Given the description of an element on the screen output the (x, y) to click on. 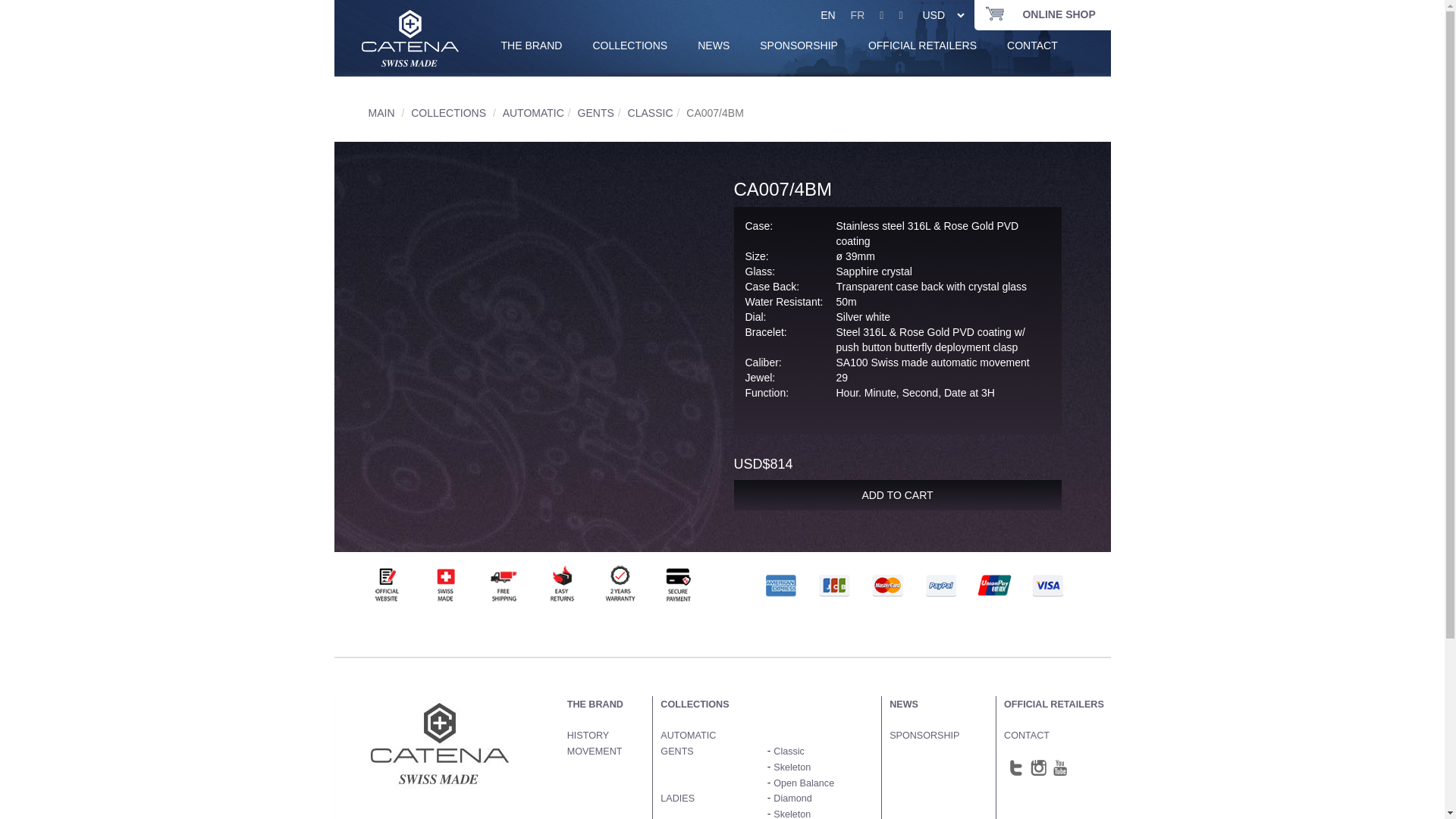
SPONSORSHIP Element type: text (924, 735)
HISTORY Element type: text (588, 735)
Skeleton Element type: text (791, 767)
NEWS Element type: text (903, 704)
COLLECTIONS Element type: text (694, 704)
NEWS Element type: text (713, 45)
LADIES Element type: text (677, 798)
Open Balance Element type: text (803, 783)
CONTACT Element type: text (1026, 735)
Diamond Element type: text (792, 798)
ONLINE SHOP Element type: text (1052, 14)
OFFICIAL RETAILERS Element type: text (922, 45)
CLASSIC Element type: text (650, 112)
AUTOMATIC Element type: text (687, 735)
CONTACT Element type: text (1032, 45)
MAIN Element type: text (381, 112)
COLLECTIONS Element type: text (448, 112)
COLLECTIONS Element type: text (629, 45)
GENTS Element type: text (676, 751)
GENTS Element type: text (595, 112)
THE BRAND Element type: text (595, 704)
EN Element type: text (827, 15)
FR Element type: text (857, 15)
MOVEMENT Element type: text (594, 751)
AUTOMATIC Element type: text (533, 112)
Classic Element type: text (788, 751)
SPONSORSHIP Element type: text (798, 45)
OFFICIAL RETAILERS Element type: text (1054, 704)
